Given the description of an element on the screen output the (x, y) to click on. 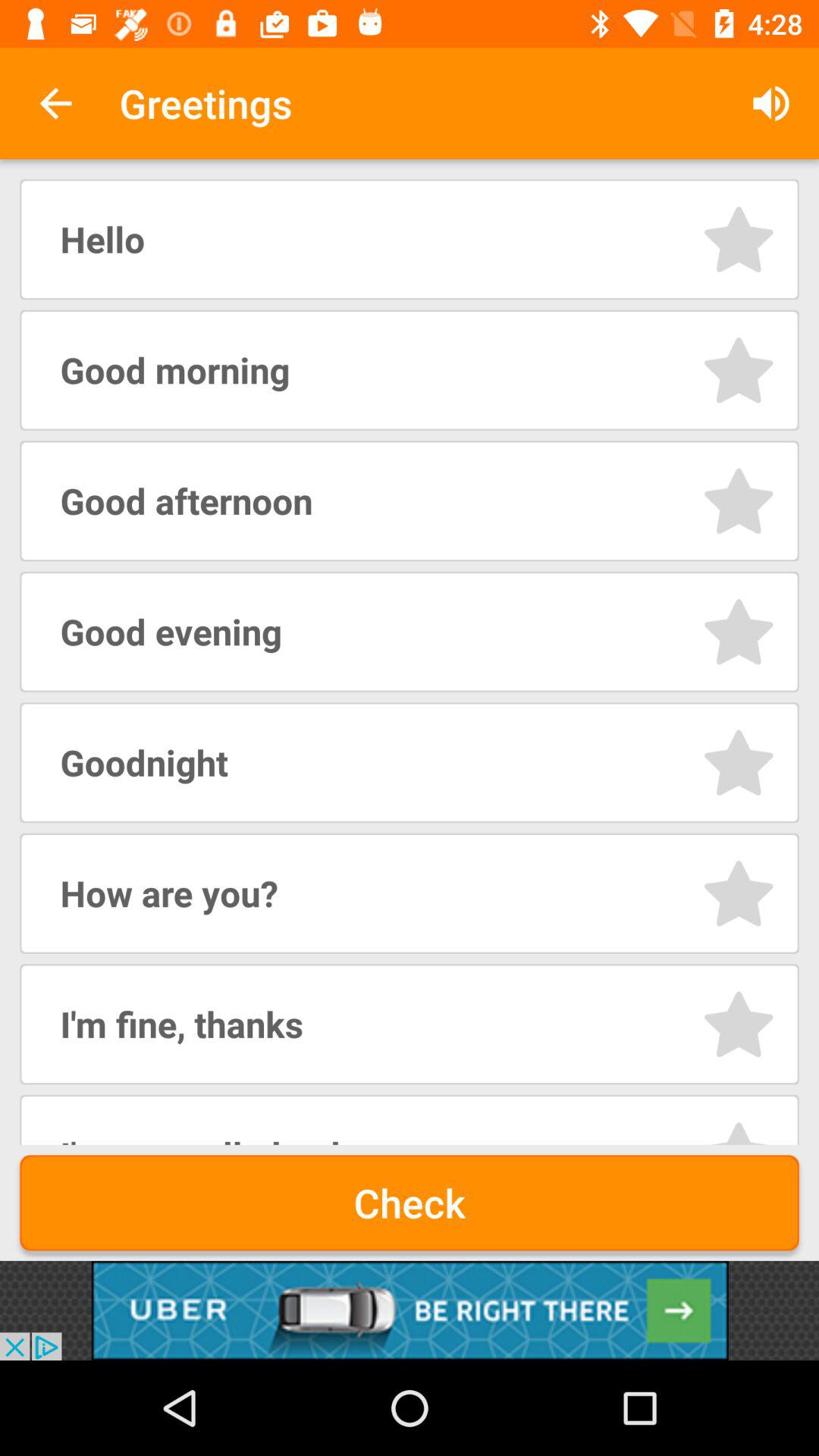
favorite 'good morning (738, 370)
